Given the description of an element on the screen output the (x, y) to click on. 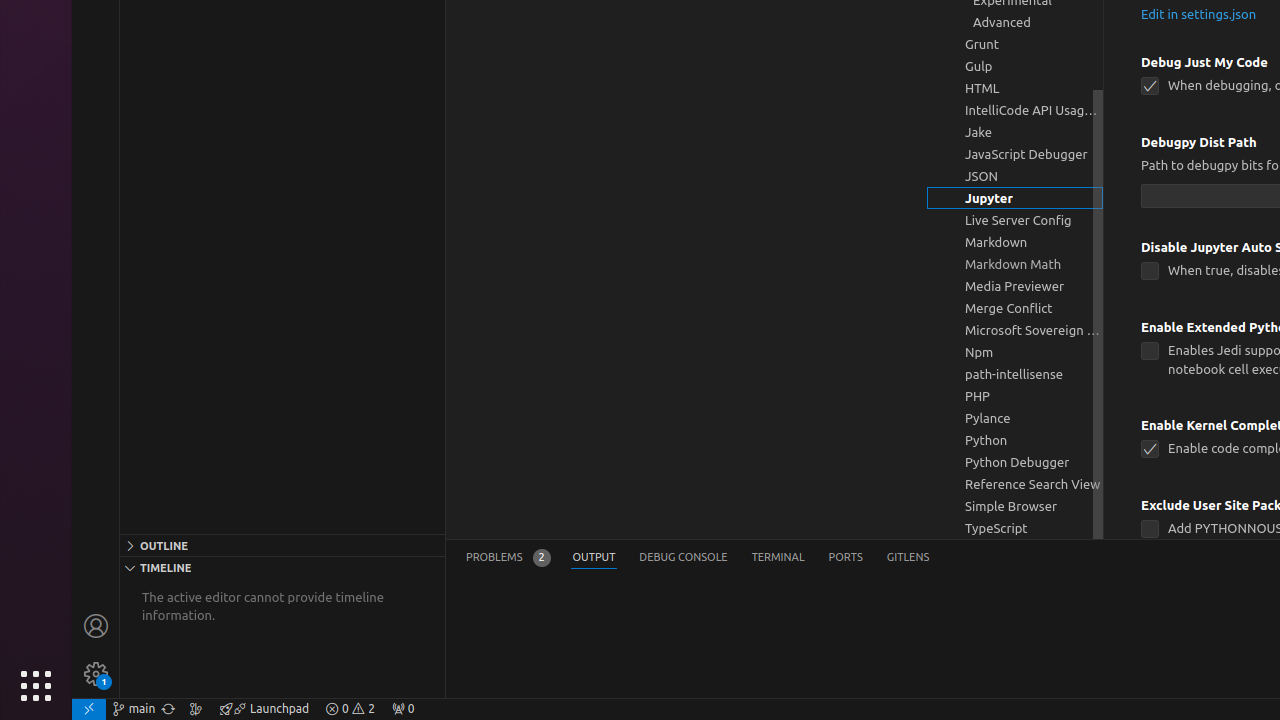
OSWorld (Git) - Synchronize Changes Element type: push-button (168, 709)
PHP, group Element type: tree-item (1015, 396)
Problems (Ctrl+Shift+M) - Total 2 Problems Element type: page-tab (507, 557)
HTML, group Element type: tree-item (1015, 88)
Merge Conflict, group Element type: tree-item (1015, 308)
